Given the description of an element on the screen output the (x, y) to click on. 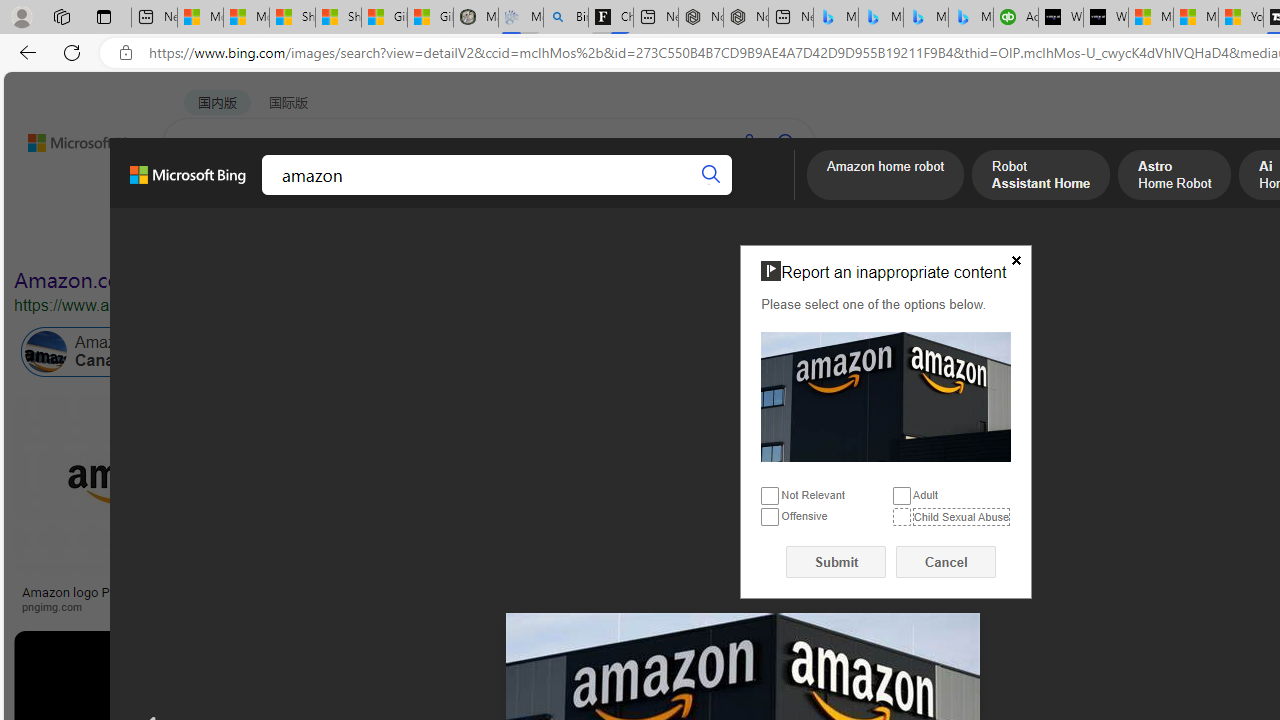
ACADEMIC (548, 195)
Amazon Logo Png Hd Wallpaper | Images and Photos finder (982, 598)
Chloe Sorvino (610, 17)
Layout (443, 237)
IMAGES (274, 195)
Submit (836, 561)
Amazon Prime Online (303, 351)
IMAGES (274, 196)
Search using voice (748, 142)
Image size (222, 237)
Amazon Animals (749, 351)
